Given the description of an element on the screen output the (x, y) to click on. 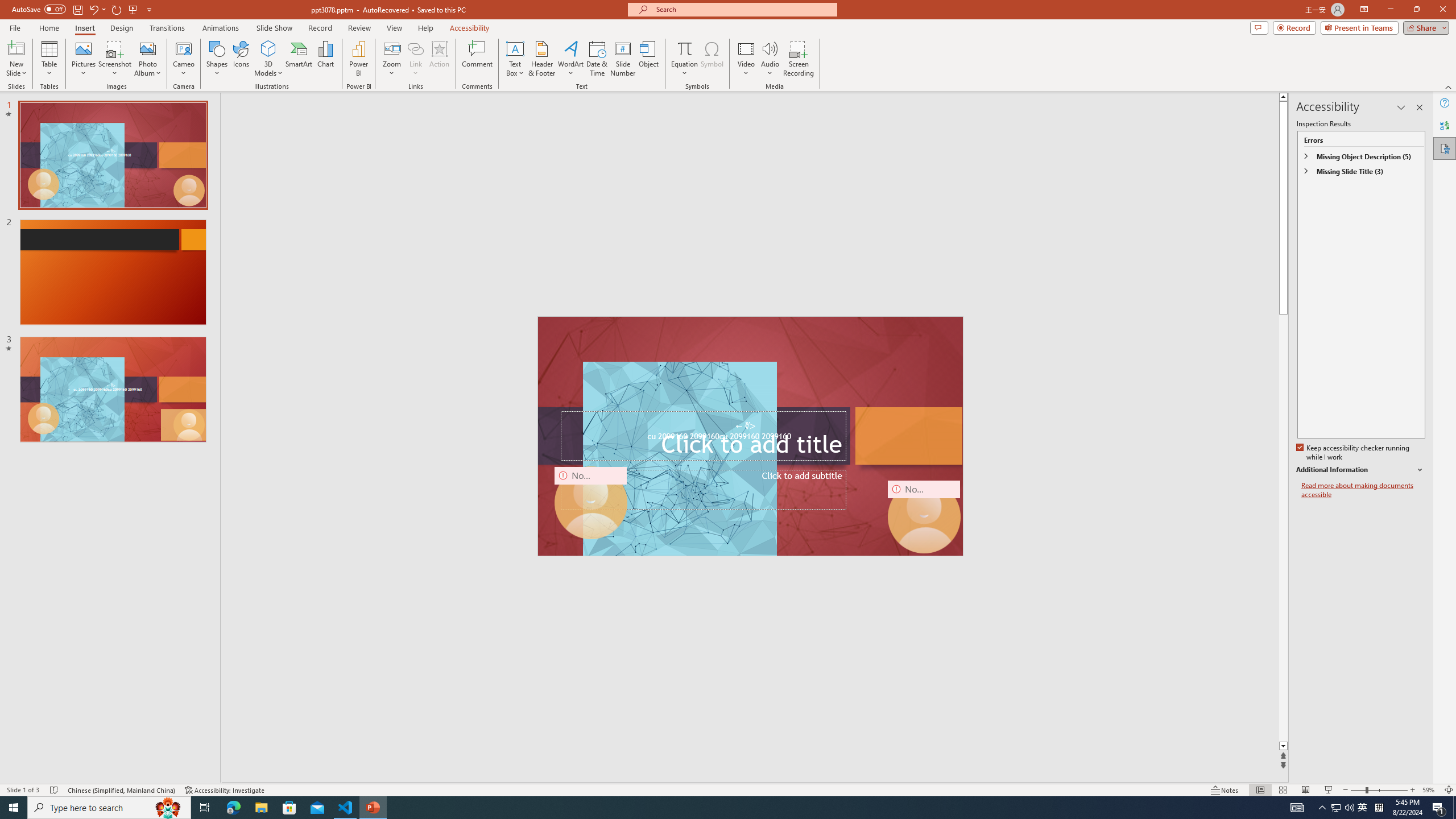
Slide Number (622, 58)
Icons (240, 58)
